Given the description of an element on the screen output the (x, y) to click on. 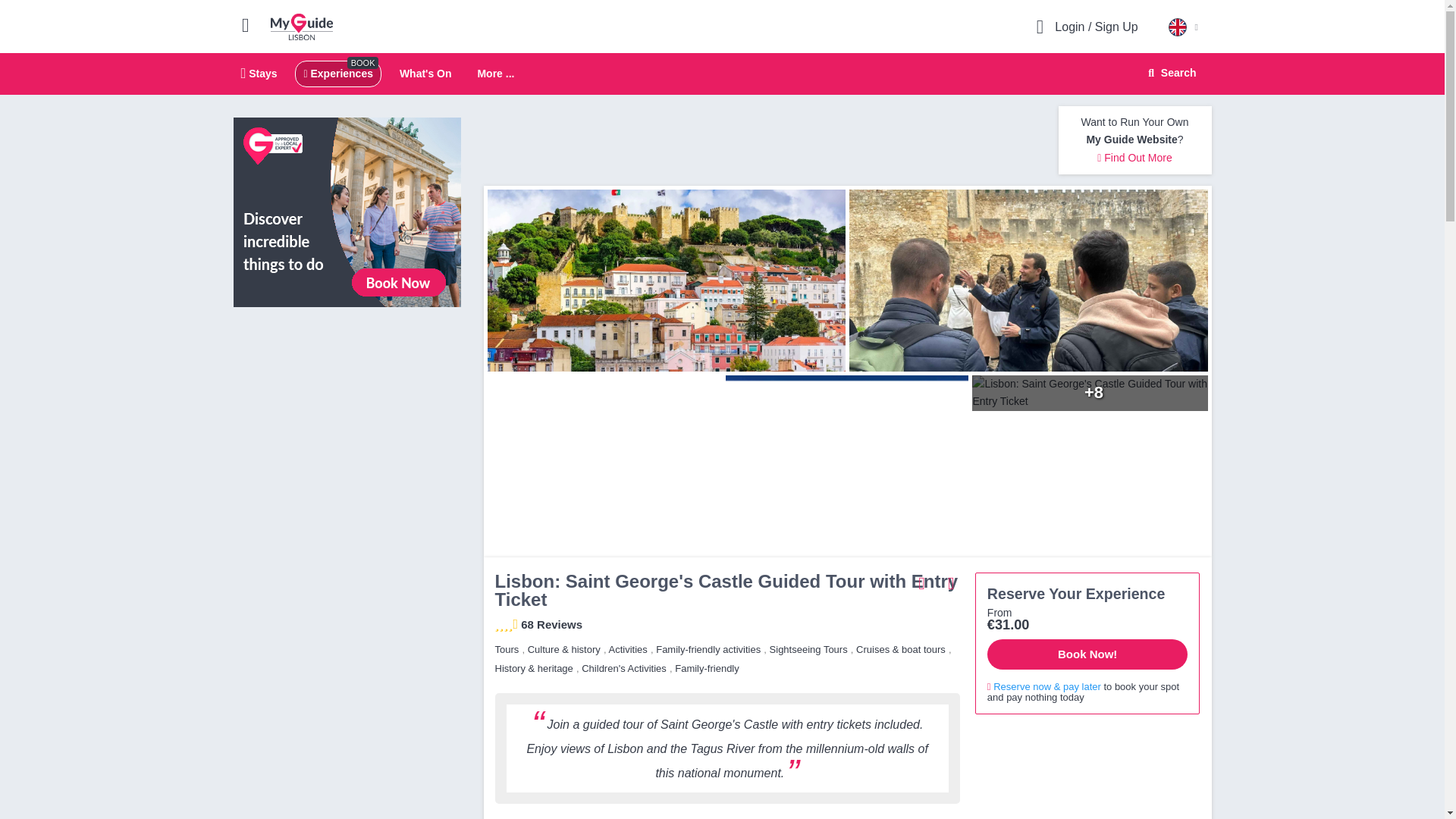
Search Website (1170, 73)
Lisbon: Saint George's Castle Guided Tour with Entry Ticket (600, 466)
Search (1169, 72)
Lisbon: Saint George's Castle Guided Tour with Entry Ticket (1031, 280)
Rating: 4.5882354 out of 5 (506, 627)
Lisbon: Saint George's Castle Guided Tour with Entry Ticket (1093, 393)
Stays (259, 73)
More ... (495, 73)
Experiences (337, 73)
What's On (424, 73)
Lisbon: Saint George's Castle Guided Tour with Entry Ticket (846, 466)
My Guide Lisbon (301, 25)
Share with Friends (922, 582)
Lisbon: Saint George's Castle Guided Tour with Entry Ticket (662, 280)
